Given the description of an element on the screen output the (x, y) to click on. 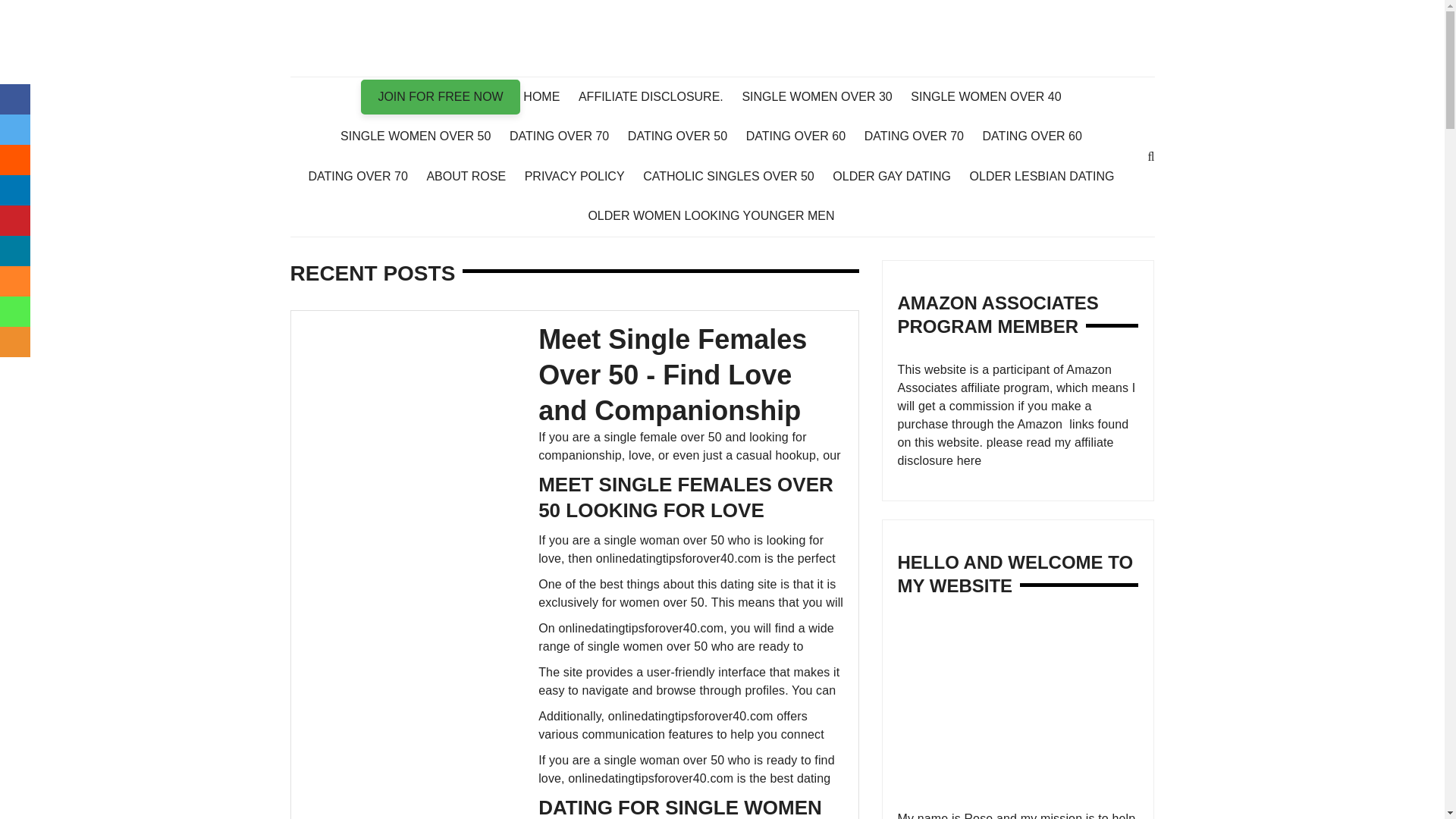
OLDER LESBIAN DATING (1049, 176)
More (15, 341)
DATING OVER 60 (802, 136)
SINGLE WOMEN OVER 40 (993, 96)
Linkedin (15, 190)
DATING OVER 70 (566, 136)
PRIVACY POLICY (582, 176)
Reddit (15, 159)
ABOUT ROSE (473, 176)
JOIN FOR FREE NOW (440, 96)
